Given the description of an element on the screen output the (x, y) to click on. 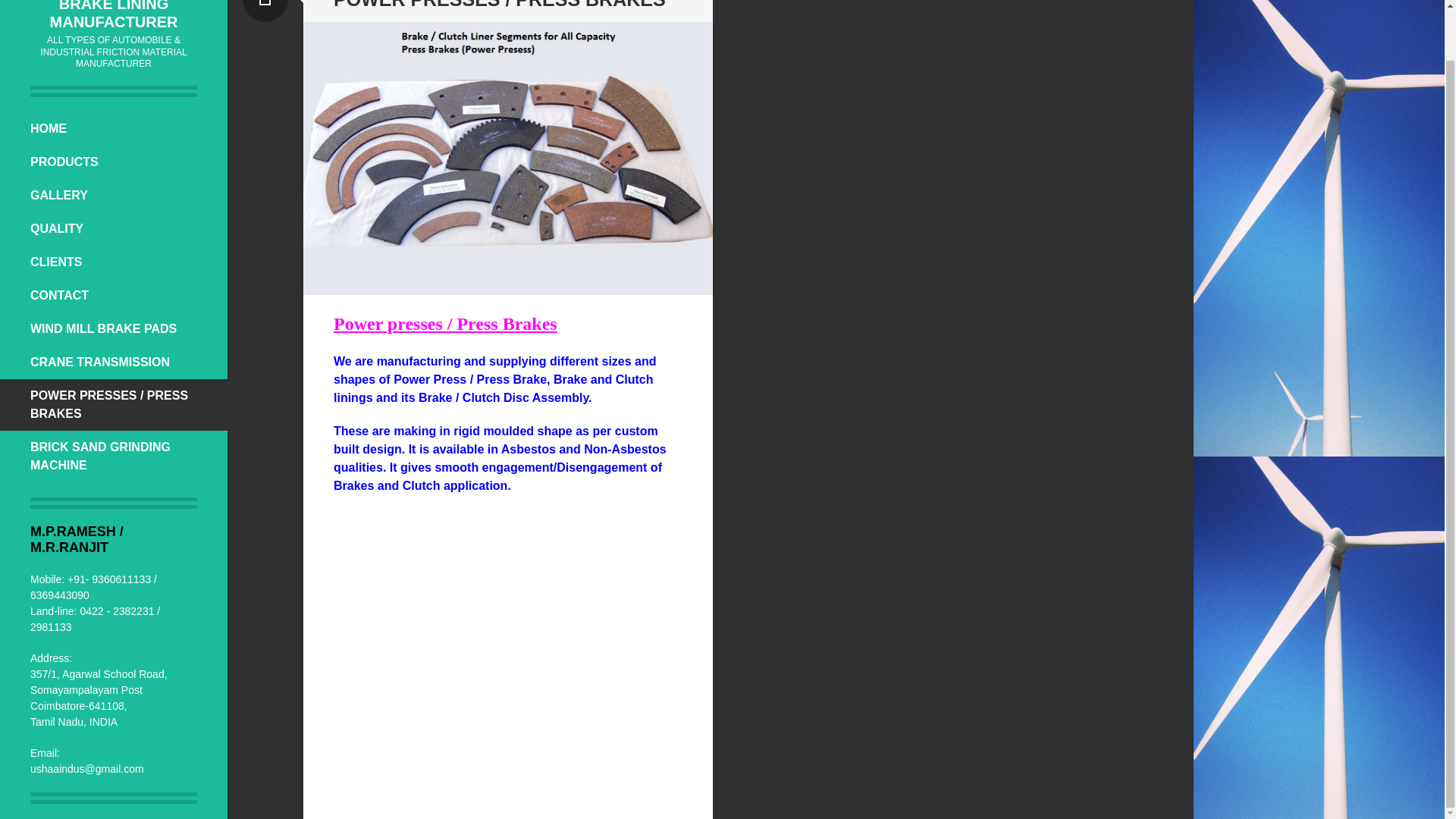
HOME (113, 128)
USHAA INDUSTRIES Brake Lining Manufacturer (113, 15)
GALLERY (113, 195)
CRANE TRANSMISSION (113, 362)
PRODUCTS (113, 162)
CONTACT (113, 295)
CLIENTS (113, 262)
BRICK SAND GRINDING MACHINE (113, 456)
WIND MILL BRAKE PADS (113, 328)
QUALITY (113, 228)
